Given the description of an element on the screen output the (x, y) to click on. 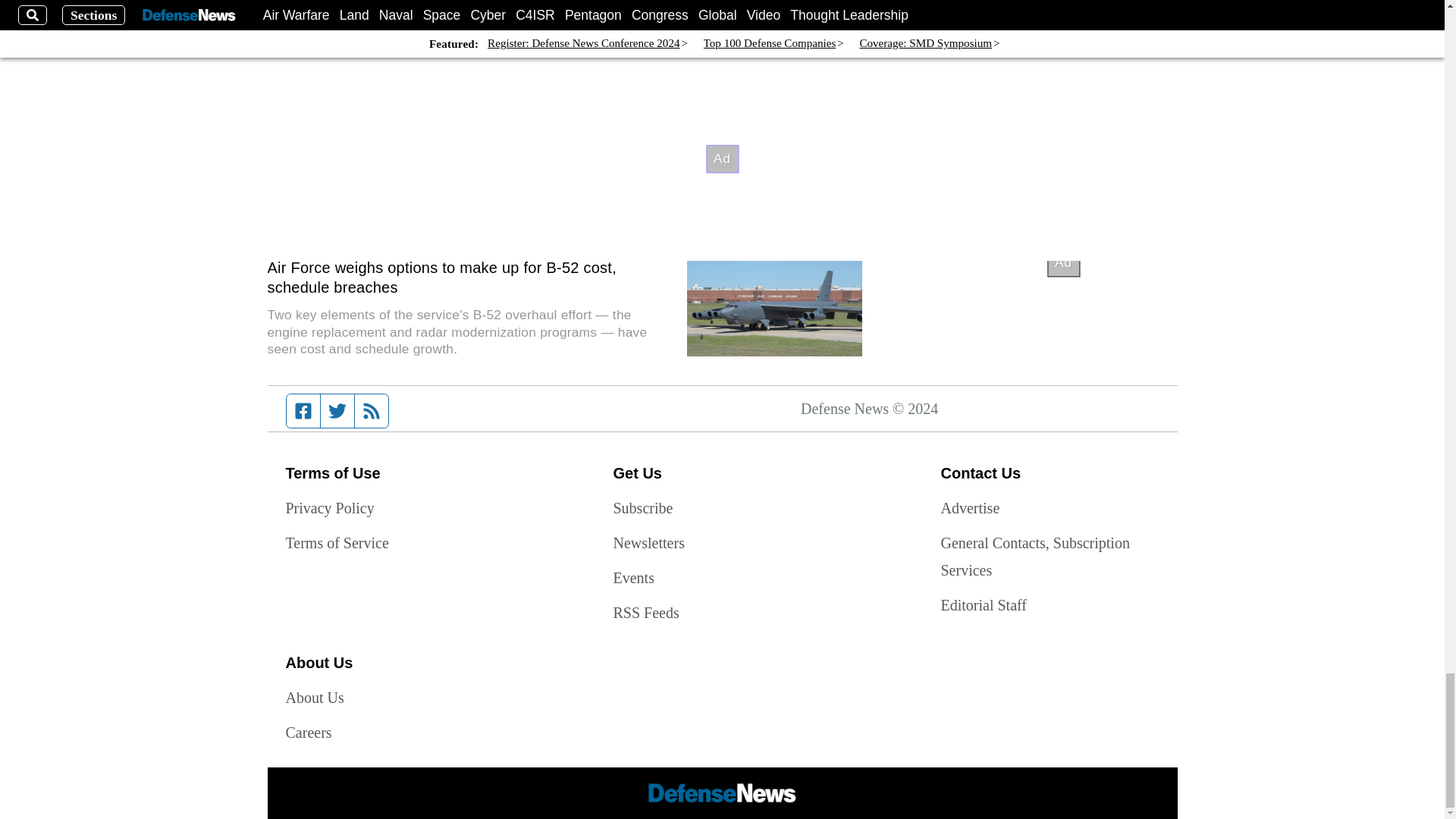
Twitter feed (336, 410)
Facebook page (303, 410)
RSS feed (371, 410)
